Given the description of an element on the screen output the (x, y) to click on. 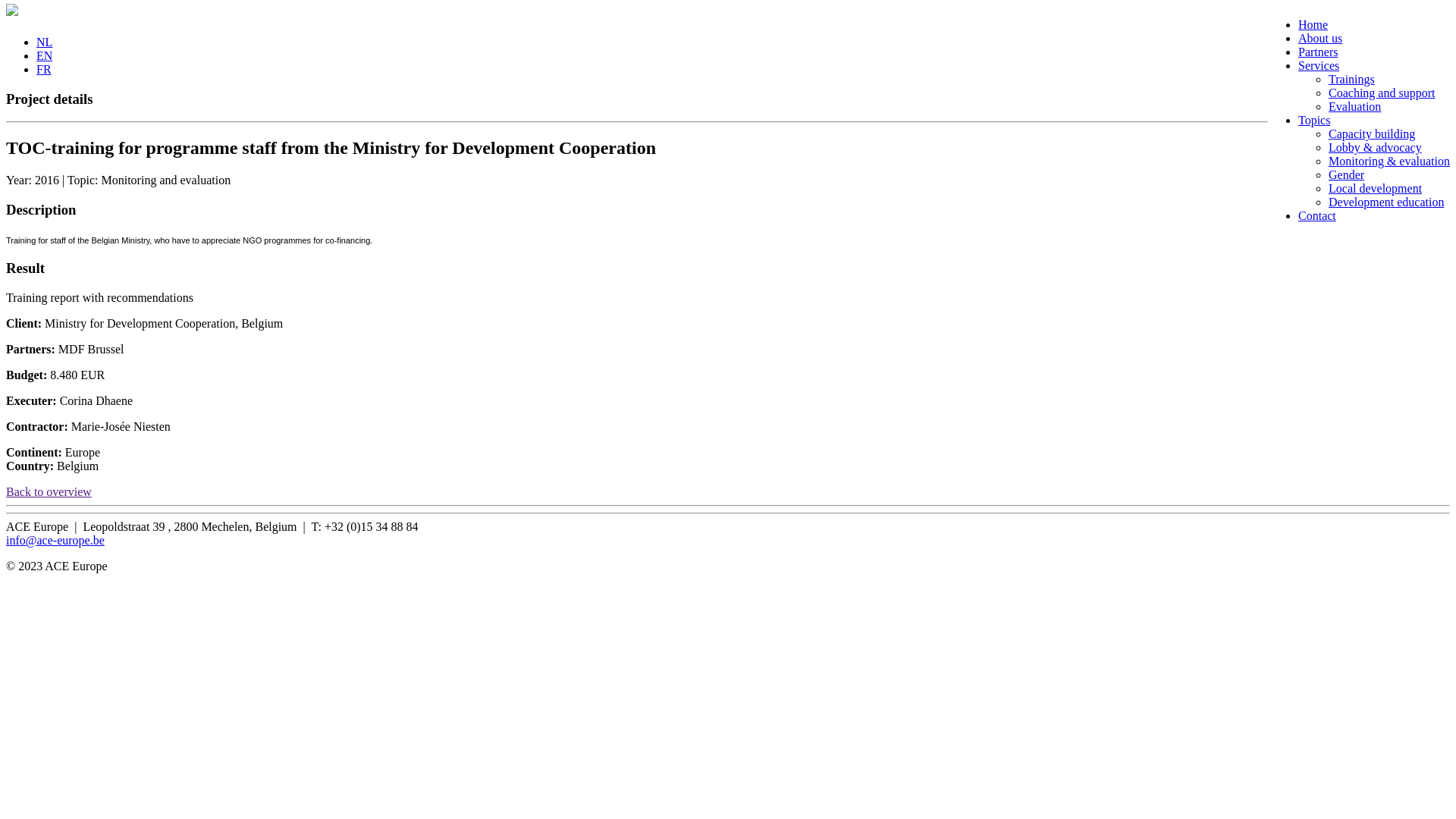
FR Element type: text (43, 68)
Topics Element type: text (1314, 119)
Gender Element type: text (1346, 174)
Evaluation Element type: text (1354, 106)
info@ace-europe.be Element type: text (55, 539)
Trainings Element type: text (1351, 78)
Home Element type: text (1312, 24)
Lobby & advocacy Element type: text (1374, 147)
Capacity building Element type: text (1371, 133)
Development education Element type: text (1385, 201)
Back to overview Element type: text (48, 491)
Coaching and support Element type: text (1381, 92)
About us Element type: text (1320, 37)
Partners Element type: text (1317, 51)
Monitoring & evaluation Element type: text (1388, 160)
NL Element type: text (44, 41)
EN Element type: text (44, 55)
Services Element type: text (1318, 65)
Contact Element type: text (1317, 215)
Local development Element type: text (1374, 188)
